Given the description of an element on the screen output the (x, y) to click on. 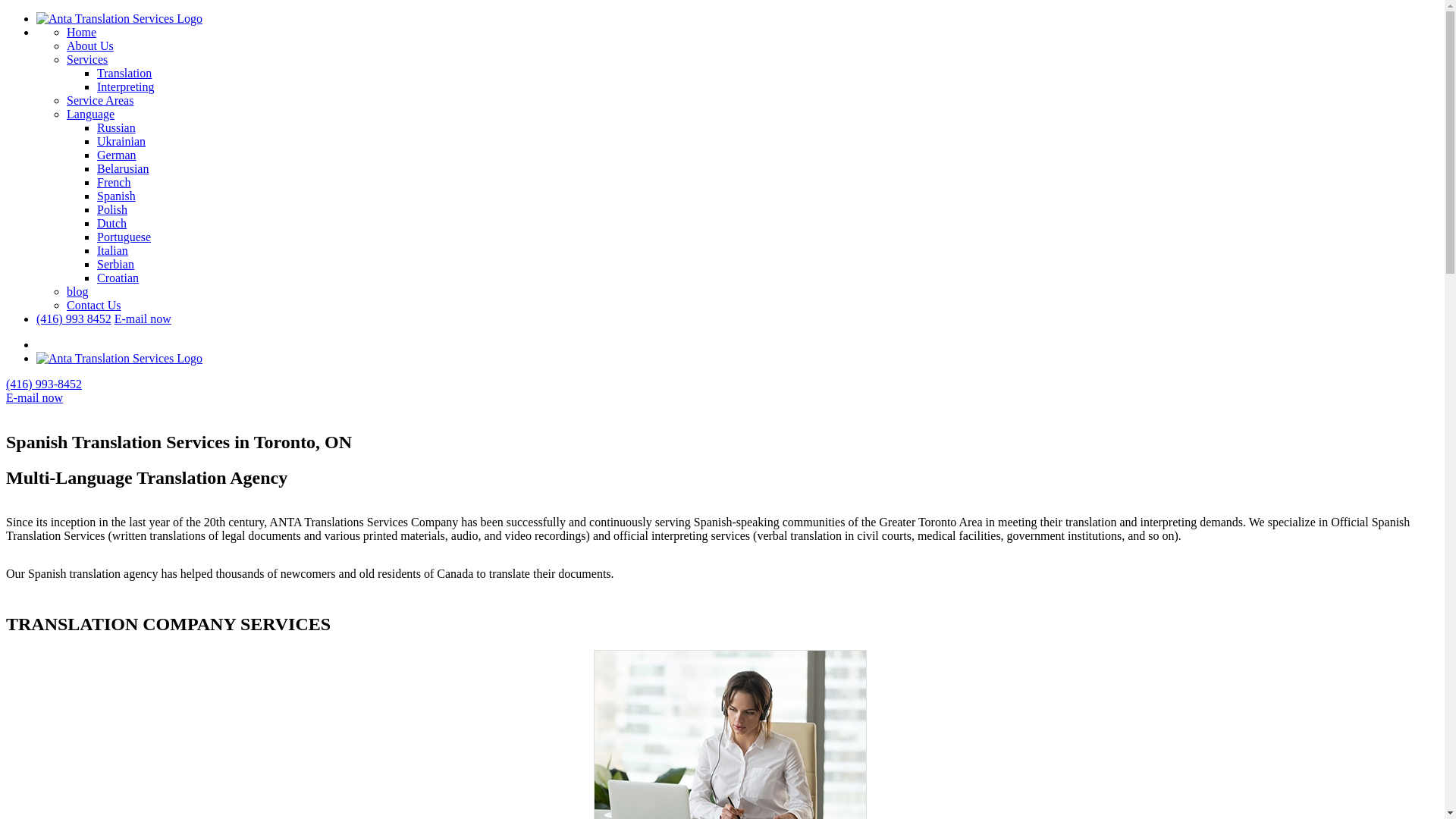
About Us Element type: text (89, 45)
Portuguese Element type: text (123, 236)
Language Element type: text (90, 113)
Croatian Element type: text (117, 277)
(416) 993-8452 Element type: text (43, 383)
Contact Us Element type: text (93, 304)
Home Element type: text (81, 31)
Russian Element type: text (116, 127)
(416) 993 8452 Element type: text (73, 318)
Interpreting Element type: text (125, 86)
French Element type: text (113, 181)
Polish Element type: text (112, 209)
Translation Element type: text (124, 72)
Service Areas Element type: text (99, 100)
Italian Element type: text (112, 250)
Serbian Element type: text (115, 263)
Services Element type: text (86, 59)
Dutch Element type: text (111, 222)
blog Element type: text (76, 291)
E-mail now Element type: text (34, 397)
Ukrainian Element type: text (121, 140)
Belarusian Element type: text (122, 168)
Spanish Element type: text (116, 195)
E-mail now Element type: text (142, 318)
German Element type: text (116, 154)
